Given the description of an element on the screen output the (x, y) to click on. 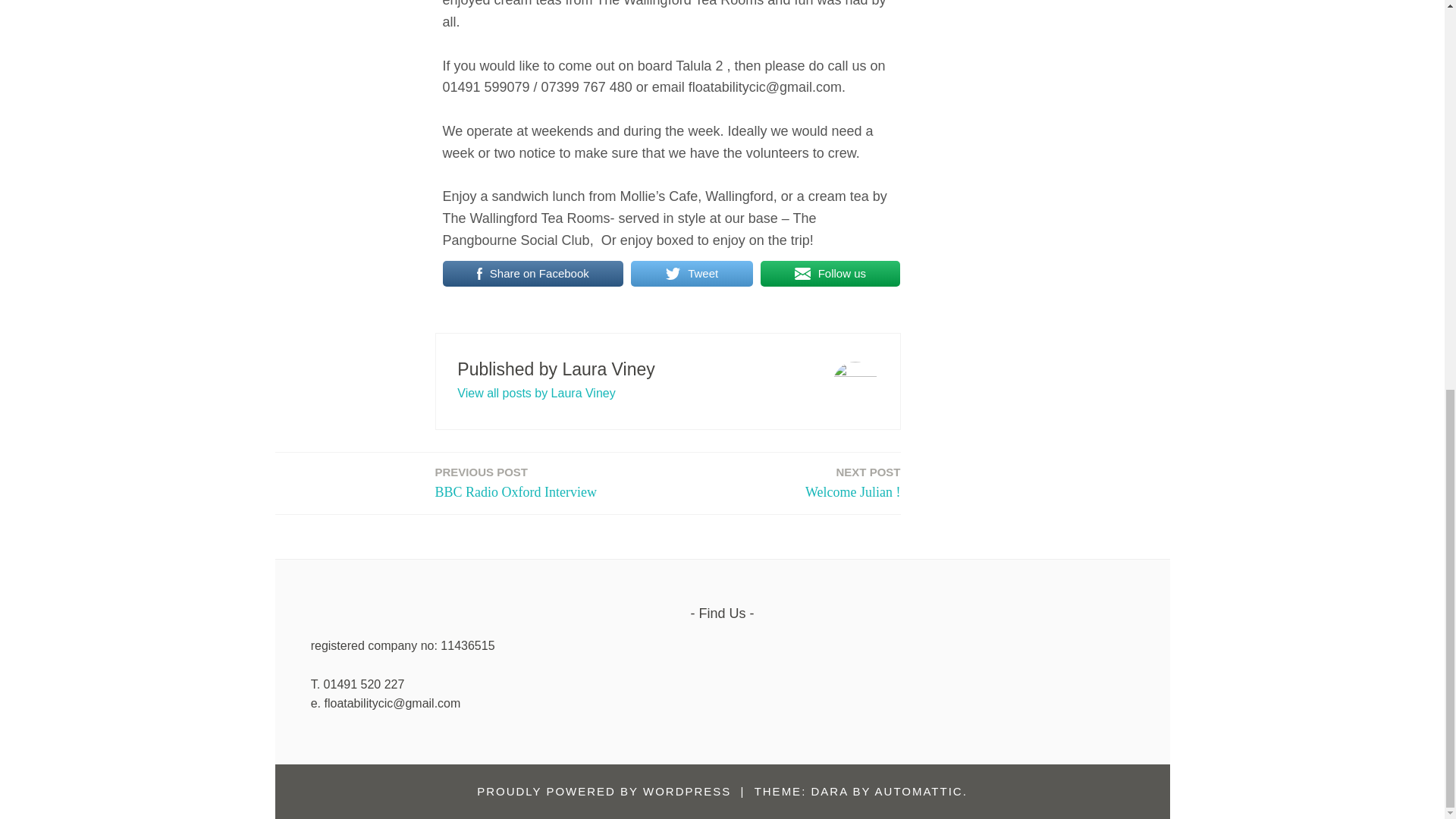
AUTOMATTIC (853, 483)
Share on Facebook (918, 790)
Tweet (533, 273)
PROUDLY POWERED BY WORDPRESS (691, 273)
Follow us (603, 790)
View all posts by Laura Viney (515, 483)
